Given the description of an element on the screen output the (x, y) to click on. 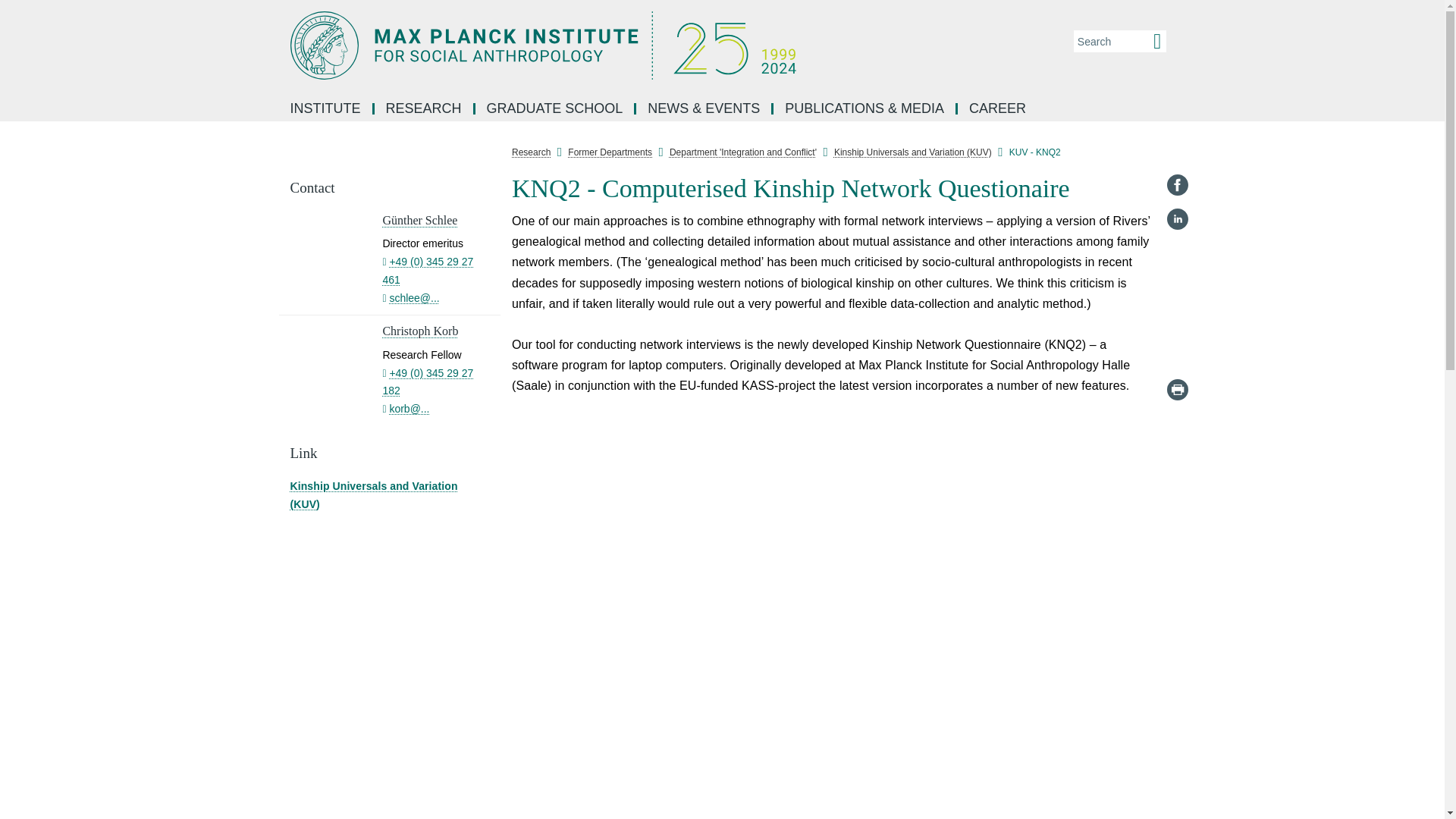
Print (1177, 389)
More information about Christoph Korb (419, 330)
RESEARCH (425, 108)
E-Mail (1177, 354)
INSTITUTE (326, 108)
LinkedIn (1177, 219)
Facebook (1177, 184)
Twitter (1177, 287)
